Given the description of an element on the screen output the (x, y) to click on. 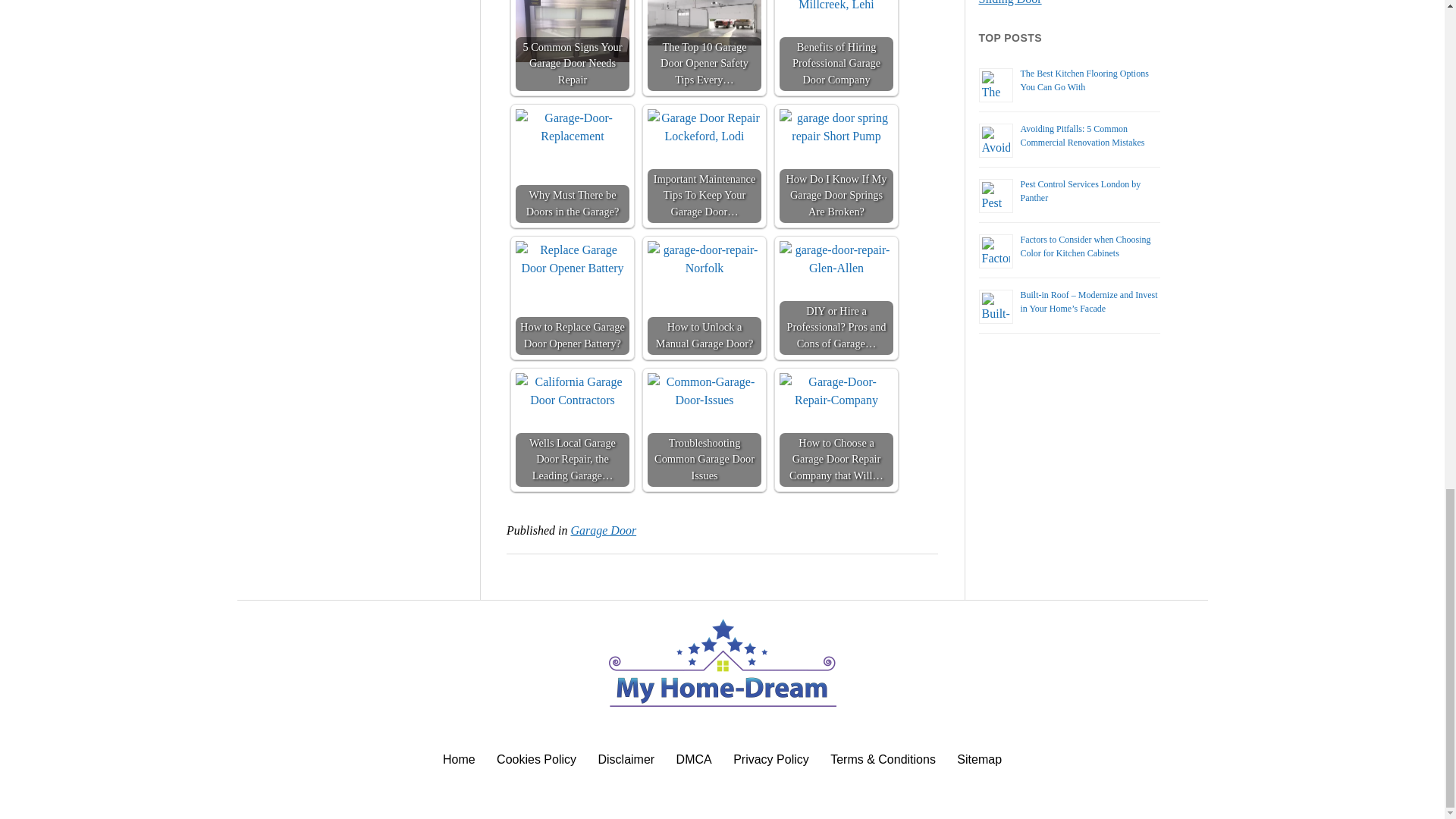
Benefits of Hiring Professional Garage Door Company (835, 45)
5 Common Signs Your Garage Door Needs Repair (571, 45)
Troubleshooting Common Garage Door Issues (704, 391)
How to Unlock a Manual Garage Door? (704, 258)
View all posts in Garage Door (603, 530)
Why Must There be Doors in the Garage? (571, 165)
How Do I Know If My Garage Door Springs Are Broken? (835, 126)
How to Replace Garage Door Opener Battery? (571, 258)
Benefits of Hiring Professional Garage Door Company (835, 6)
Why Must There be Doors in the Garage? (571, 126)
5 Common Signs Your Garage Door Needs Repair (571, 31)
